Given the description of an element on the screen output the (x, y) to click on. 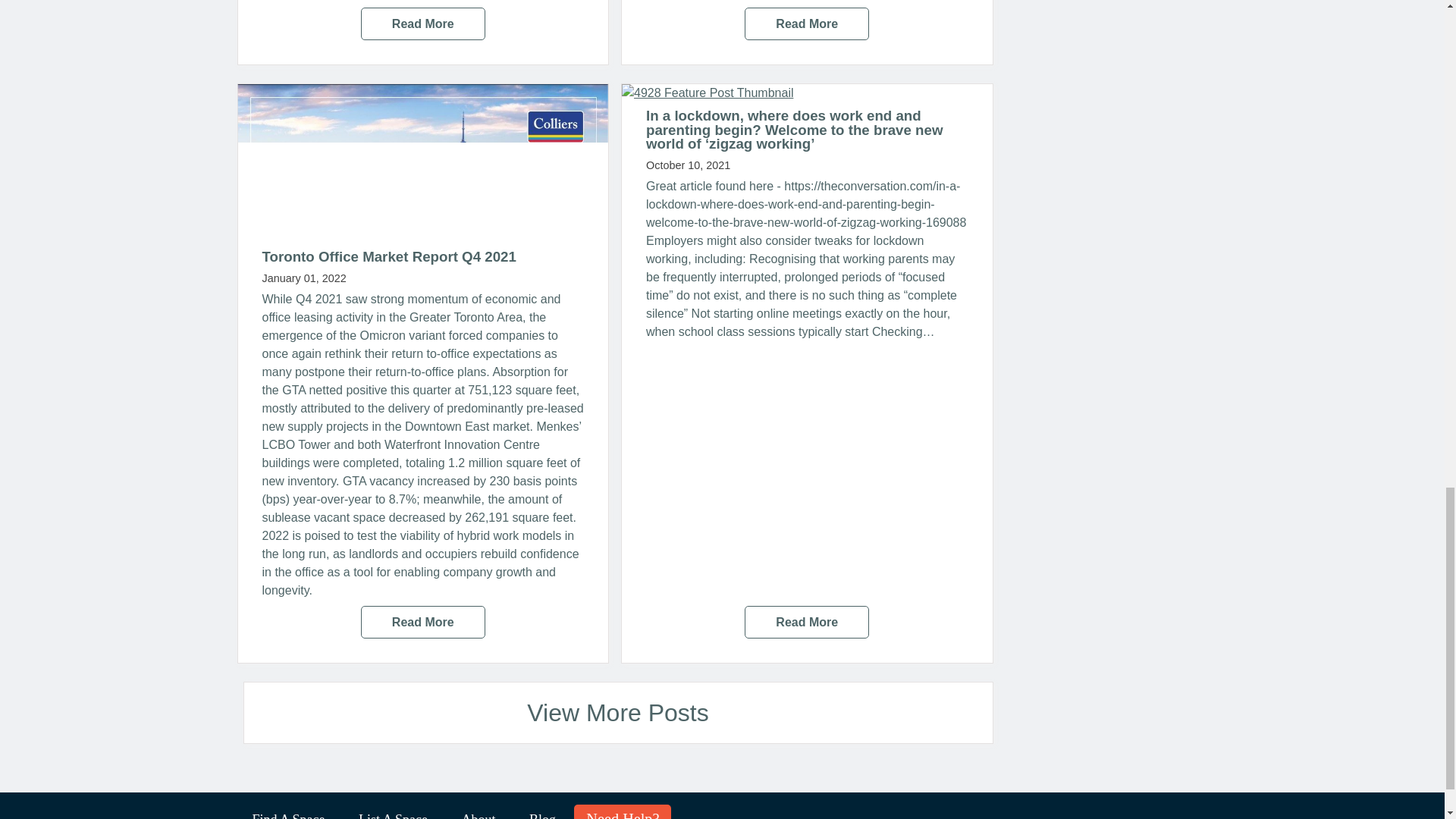
Read More (806, 622)
Read More (422, 23)
Toronto Office Market Report Q4 2021 (389, 256)
Read More (422, 622)
Read More (806, 23)
